Given the description of an element on the screen output the (x, y) to click on. 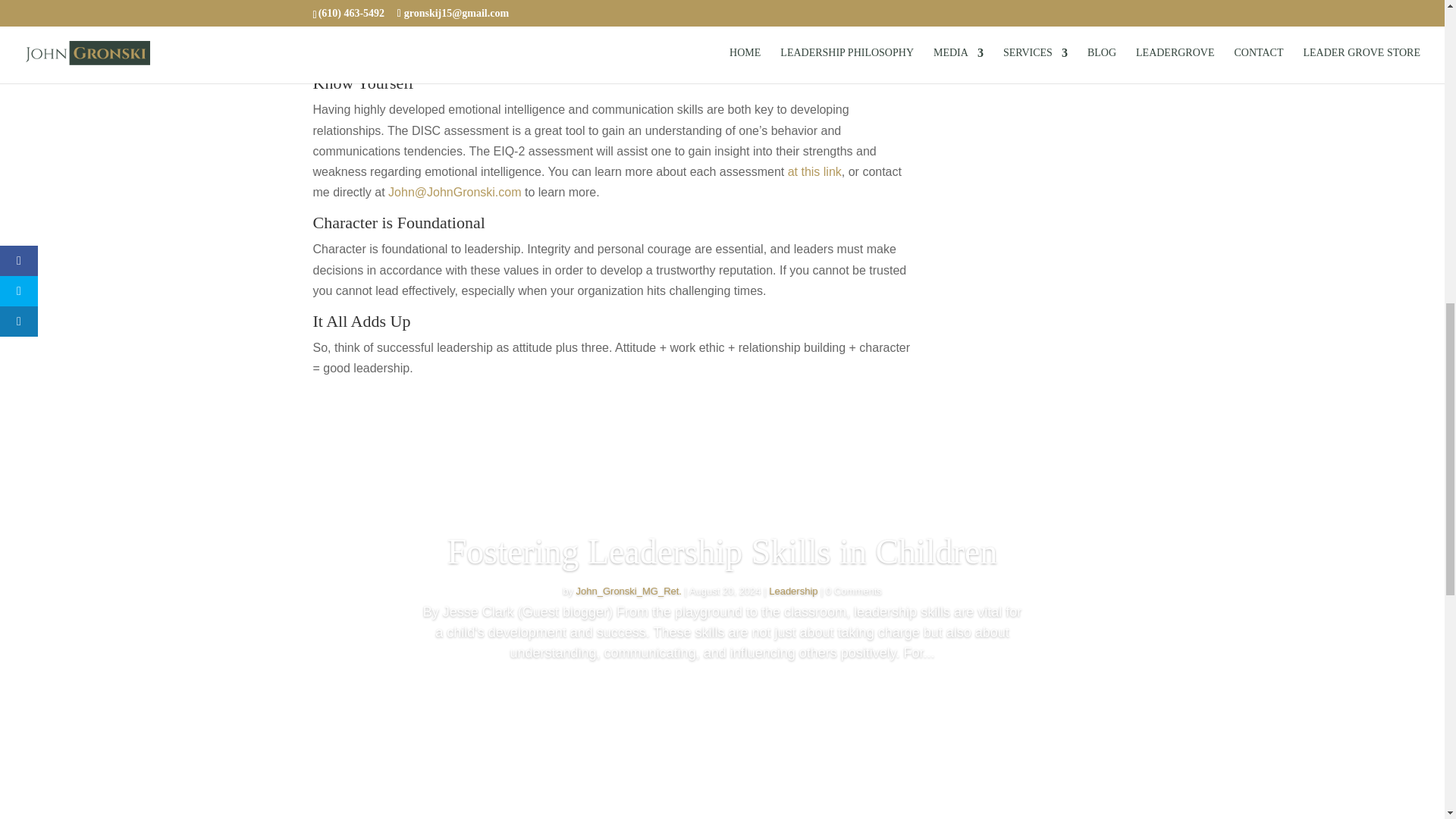
Read More (722, 697)
Leadership (792, 591)
Fostering Leadership Skills in Children (721, 551)
at this link (814, 171)
